Given the description of an element on the screen output the (x, y) to click on. 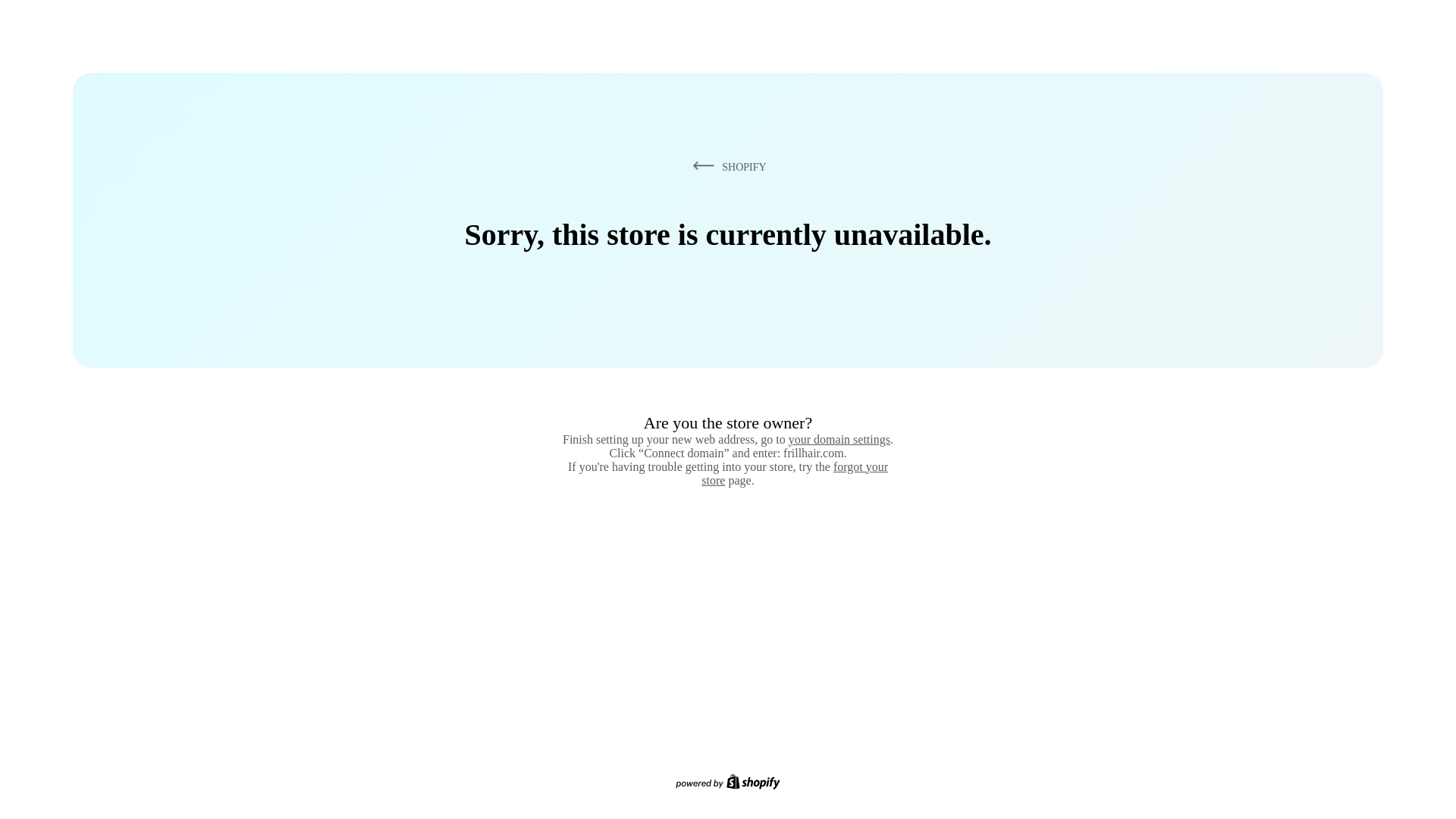
SHOPIFY (726, 166)
forgot your store (794, 473)
your domain settings (839, 439)
